Given the description of an element on the screen output the (x, y) to click on. 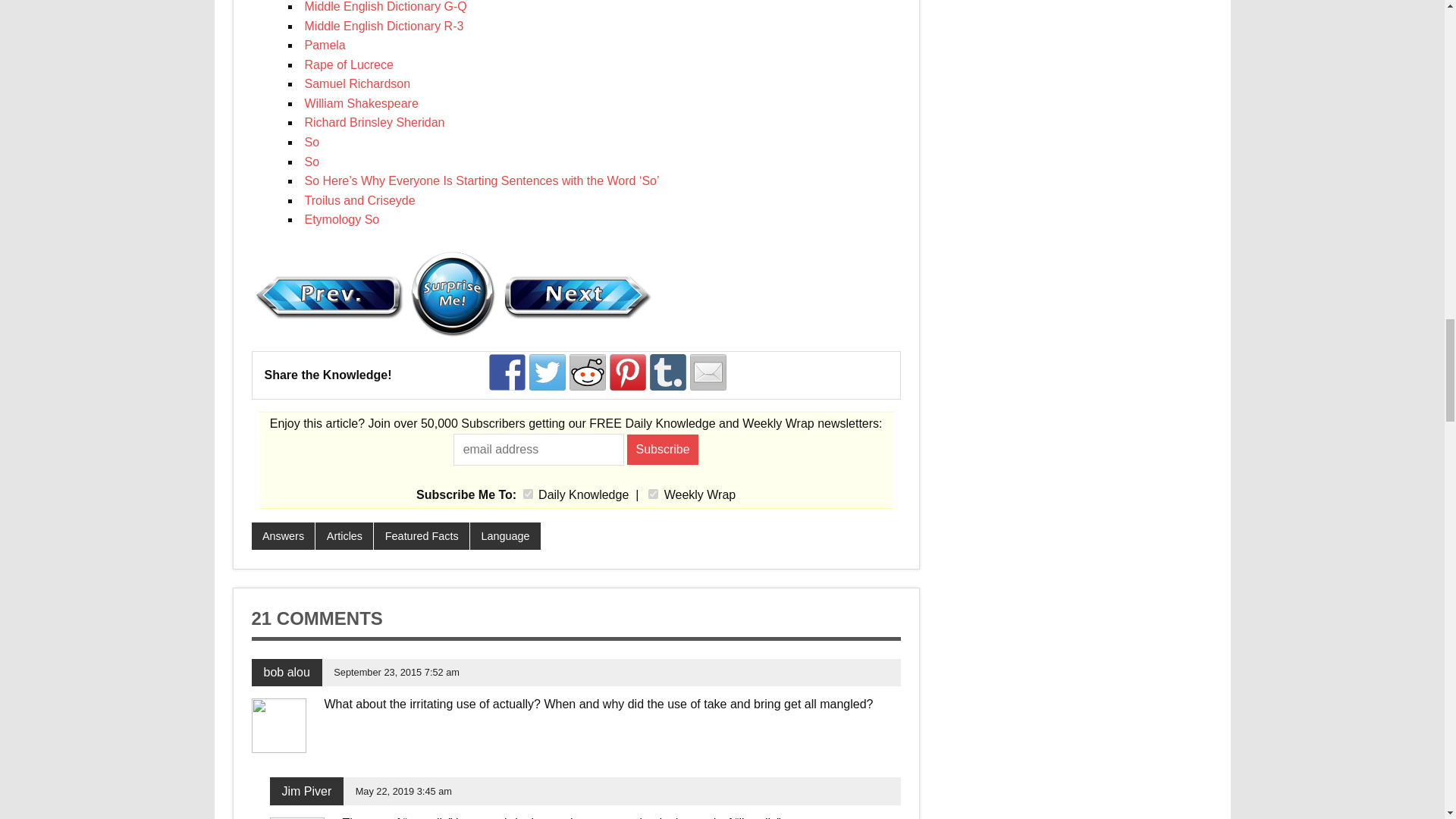
Subscribe (662, 449)
2 (652, 493)
Random (451, 293)
Share on Facebook (507, 371)
1 (527, 493)
